Given the description of an element on the screen output the (x, y) to click on. 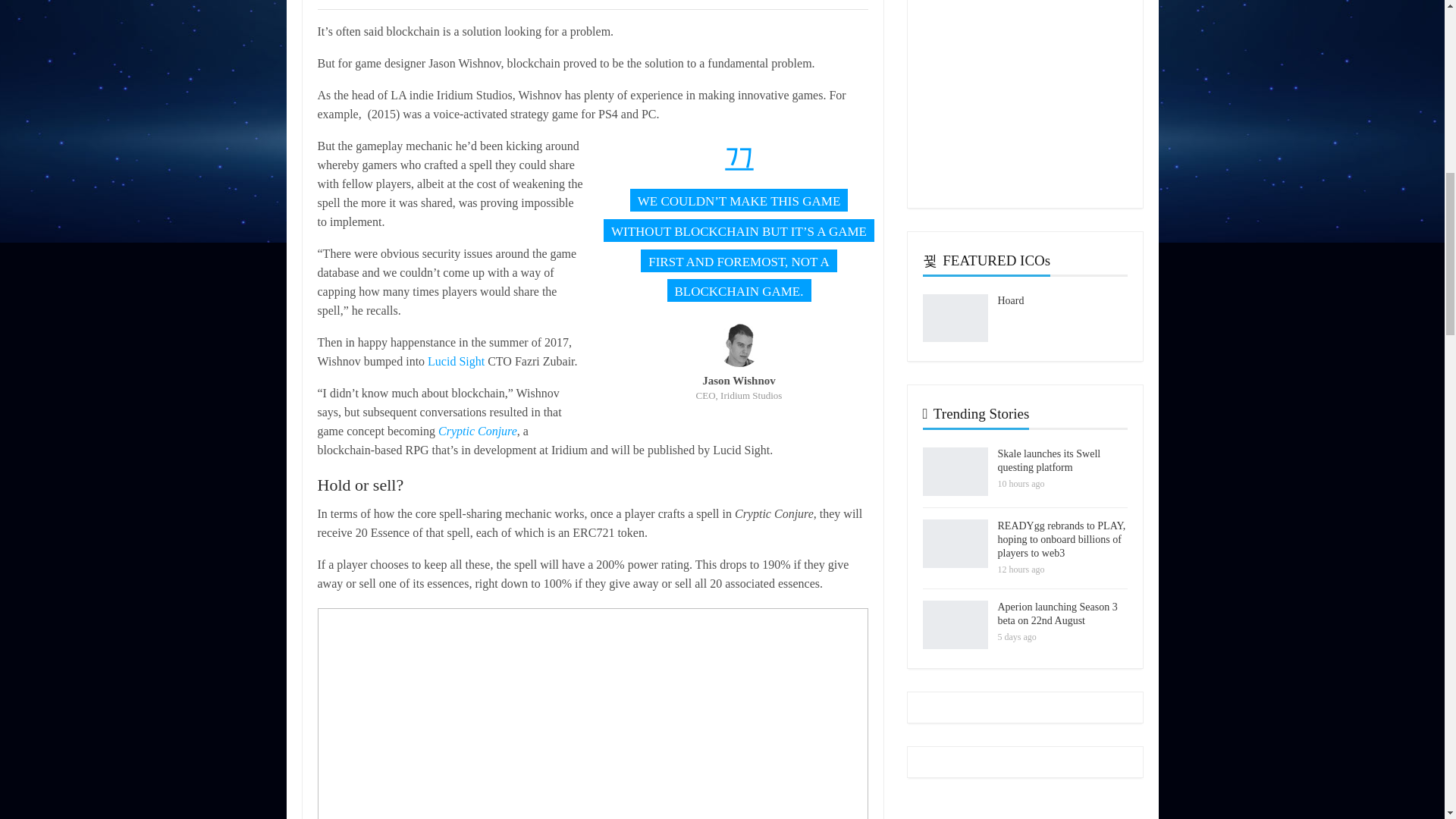
Hoard (954, 318)
Cryptic Conjure (477, 431)
Lucid Sight (456, 360)
Skale launches its Swell questing platform (954, 471)
